Given the description of an element on the screen output the (x, y) to click on. 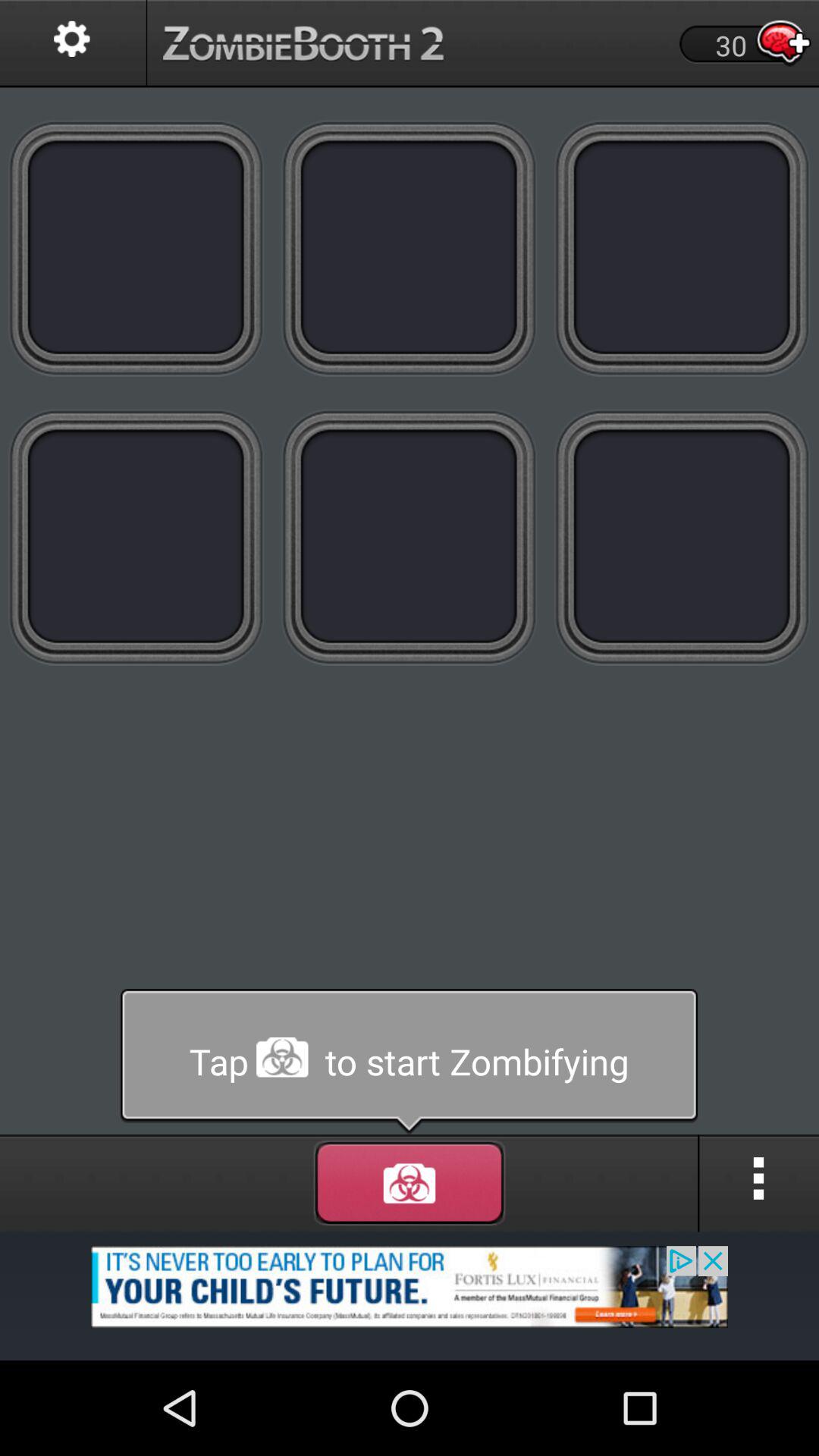
new tape (682, 247)
